Given the description of an element on the screen output the (x, y) to click on. 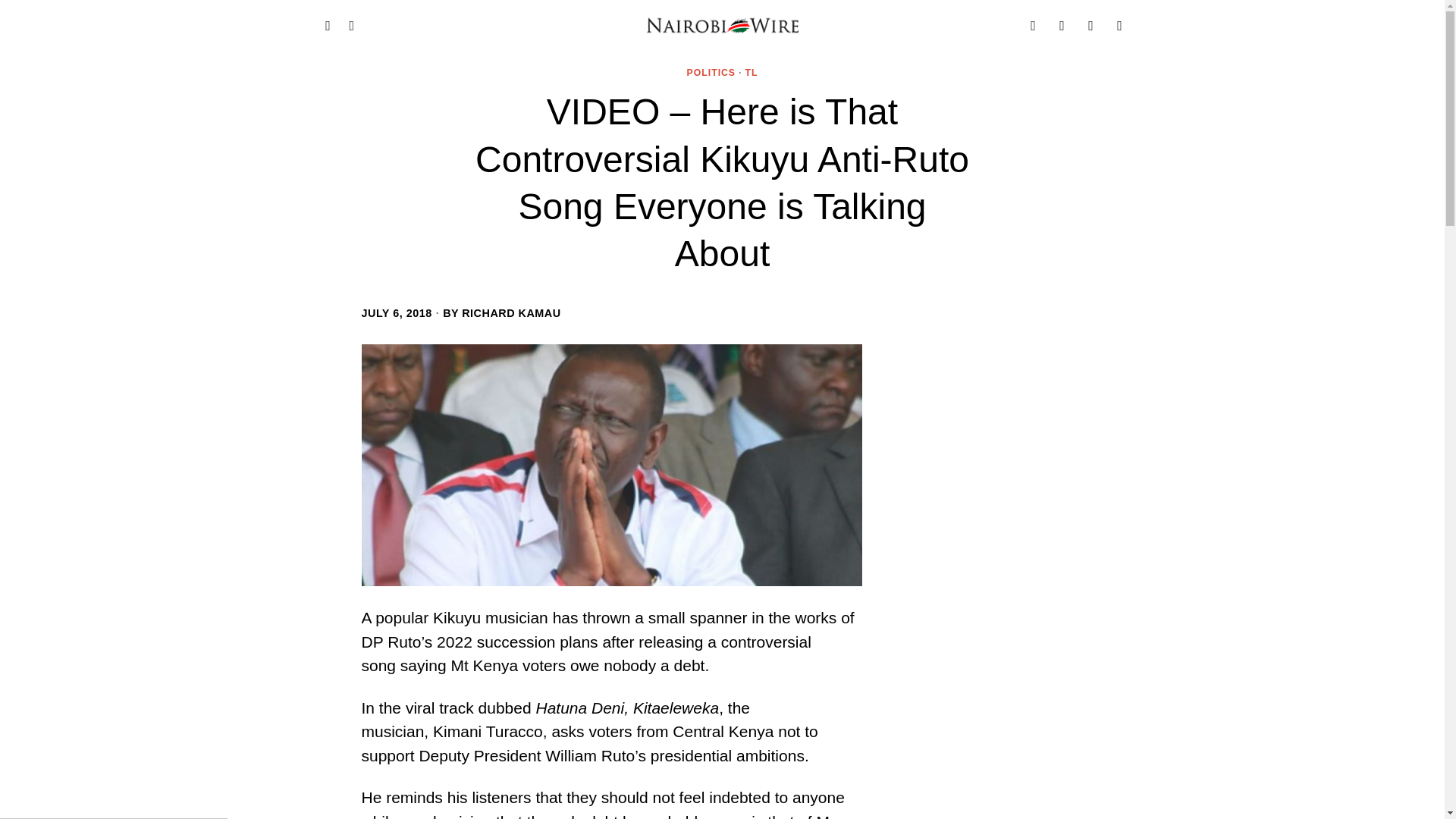
06 Jul, 2018 06:11:50 (395, 313)
TL (750, 73)
RICHARD KAMAU (510, 313)
POLITICS (711, 73)
